Given the description of an element on the screen output the (x, y) to click on. 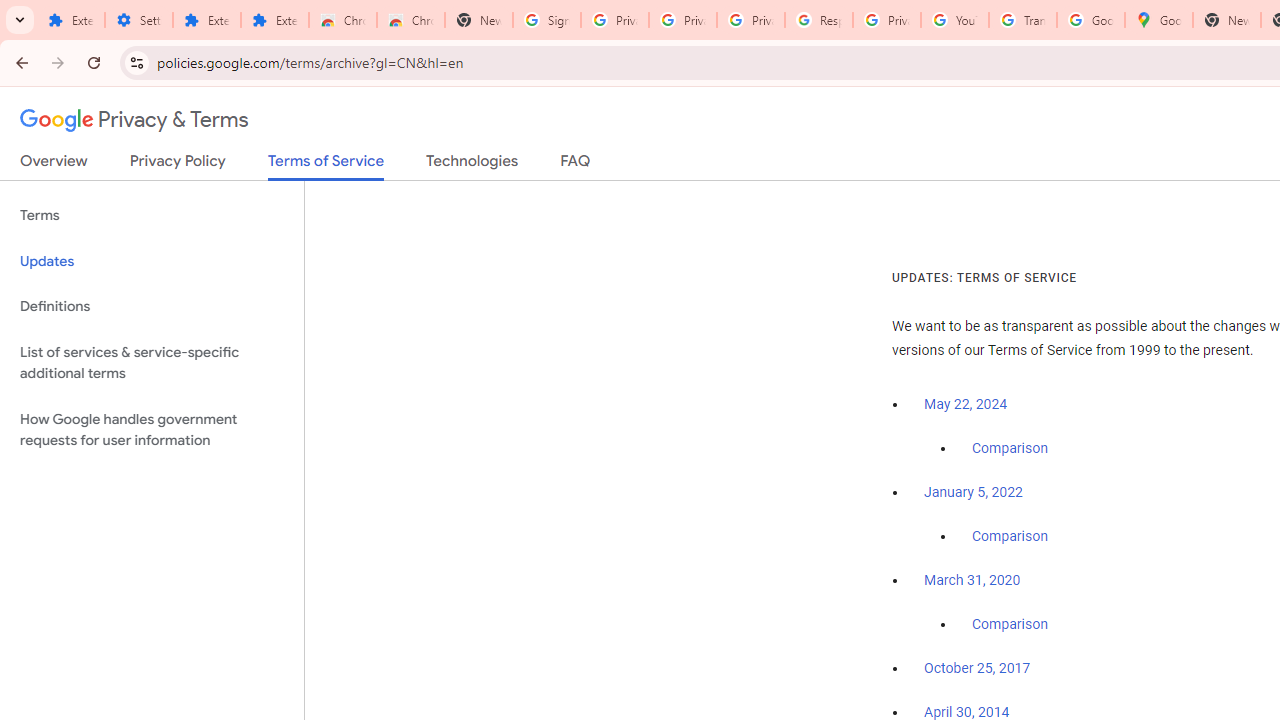
March 31, 2020 (972, 580)
FAQ (575, 165)
List of services & service-specific additional terms (152, 362)
Technologies (472, 165)
YouTube (954, 20)
Sign in - Google Accounts (547, 20)
Extensions (70, 20)
January 5, 2022 (973, 492)
Extensions (206, 20)
May 22, 2024 (966, 404)
